Given the description of an element on the screen output the (x, y) to click on. 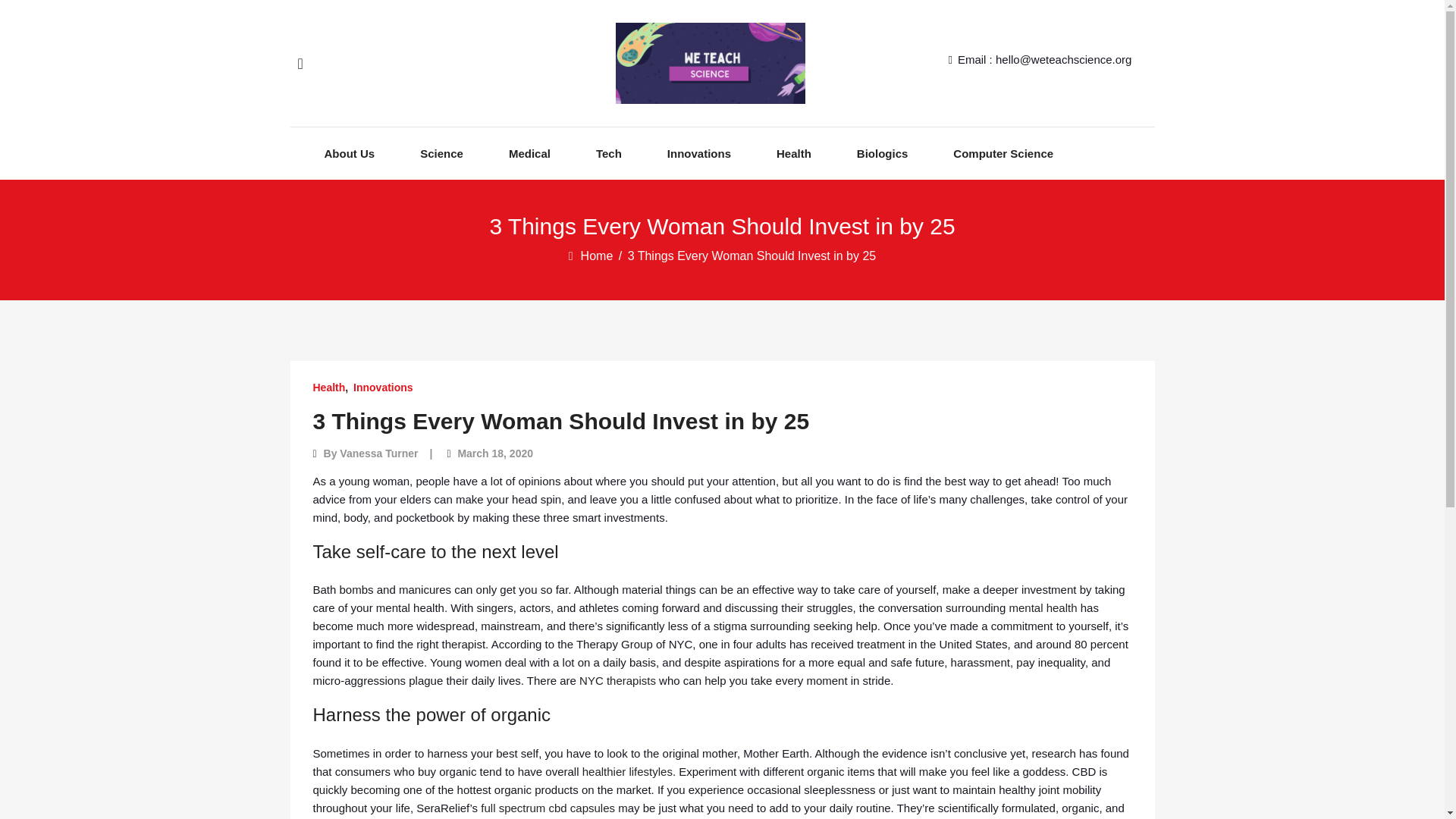
NYC therapists (617, 680)
full spectrum cbd capsules (547, 807)
healthier lifestyles (627, 770)
About Us (349, 153)
Innovations (383, 387)
Innovations (698, 153)
Home (597, 255)
Computer Science (1002, 153)
Biologics (882, 153)
March 18, 2020 (494, 453)
Health (329, 387)
Vanessa Turner (378, 453)
mental health (1043, 607)
